Given the description of an element on the screen output the (x, y) to click on. 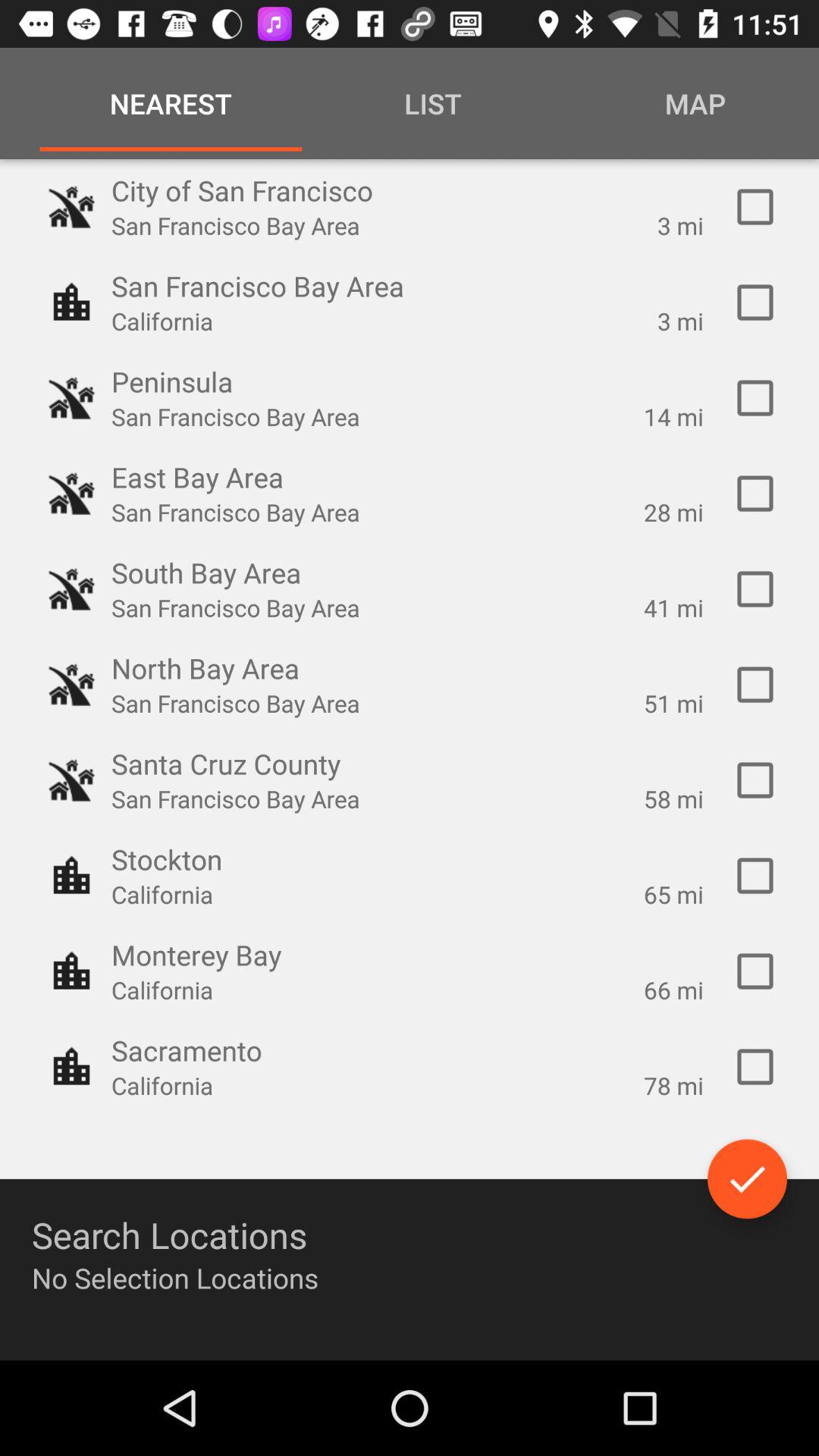
add checked location to list of search locations (755, 780)
